Given the description of an element on the screen output the (x, y) to click on. 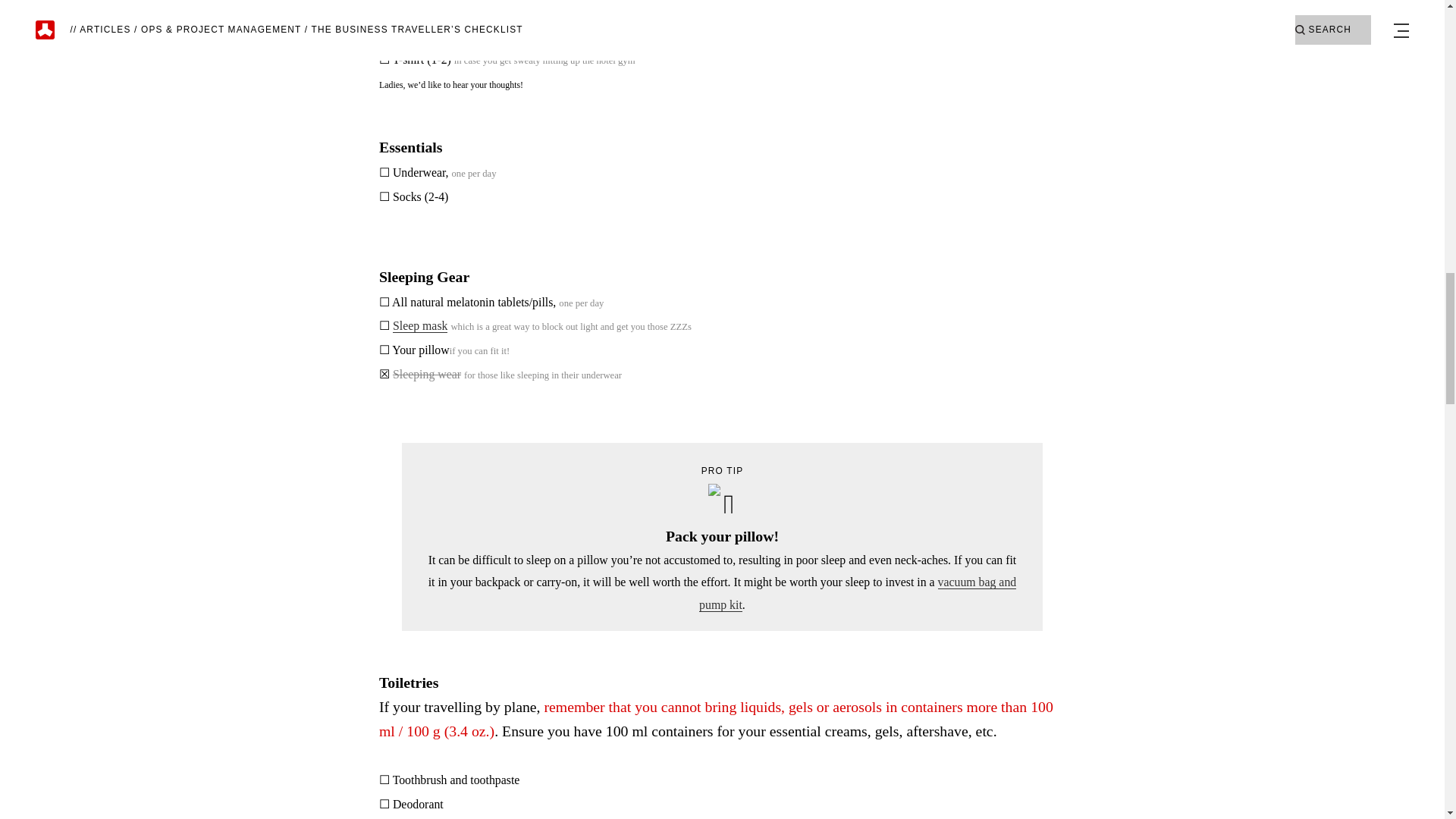
Sleep mask (420, 325)
vacuum bag and pump kit (857, 593)
